Given the description of an element on the screen output the (x, y) to click on. 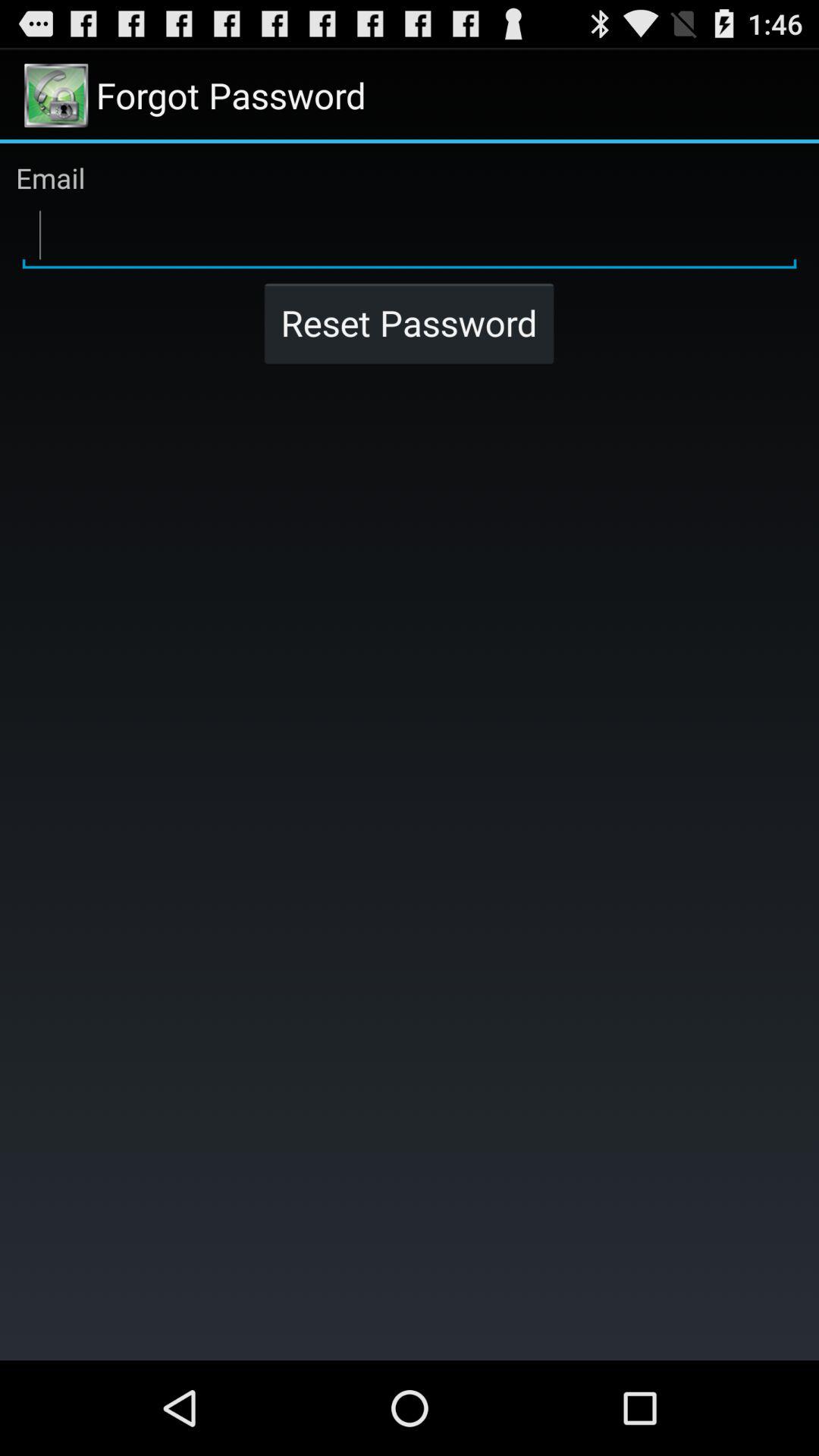
input email to request a password reset (409, 235)
